Given the description of an element on the screen output the (x, y) to click on. 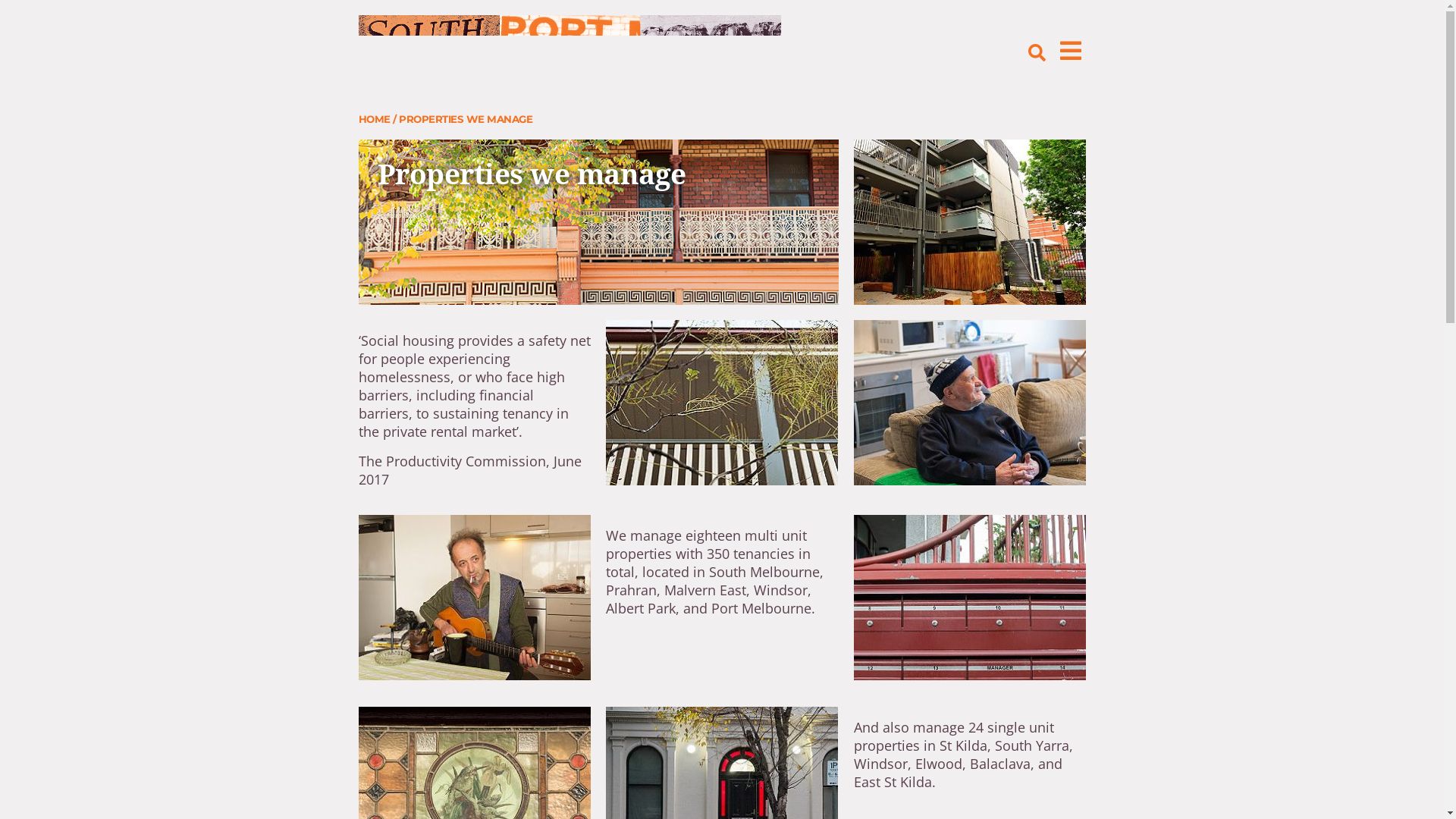
properties_3 Element type: hover (969, 402)
HOME Element type: text (373, 118)
properties_5 Element type: hover (969, 597)
useful-links Element type: hover (721, 402)
properties_4 Element type: hover (474, 597)
properties_2 Element type: hover (969, 221)
